Given the description of an element on the screen output the (x, y) to click on. 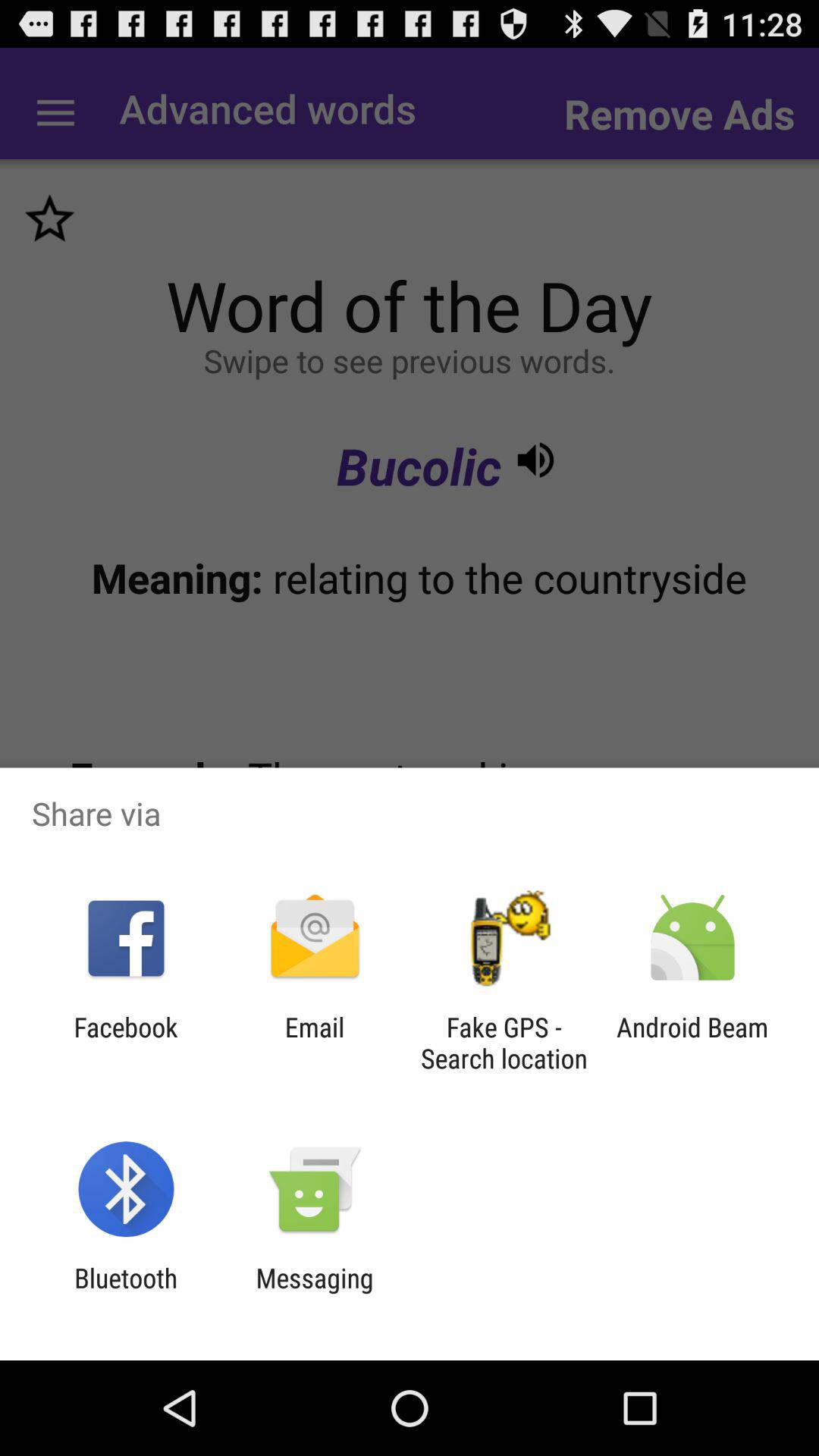
launch the bluetooth icon (125, 1293)
